Given the description of an element on the screen output the (x, y) to click on. 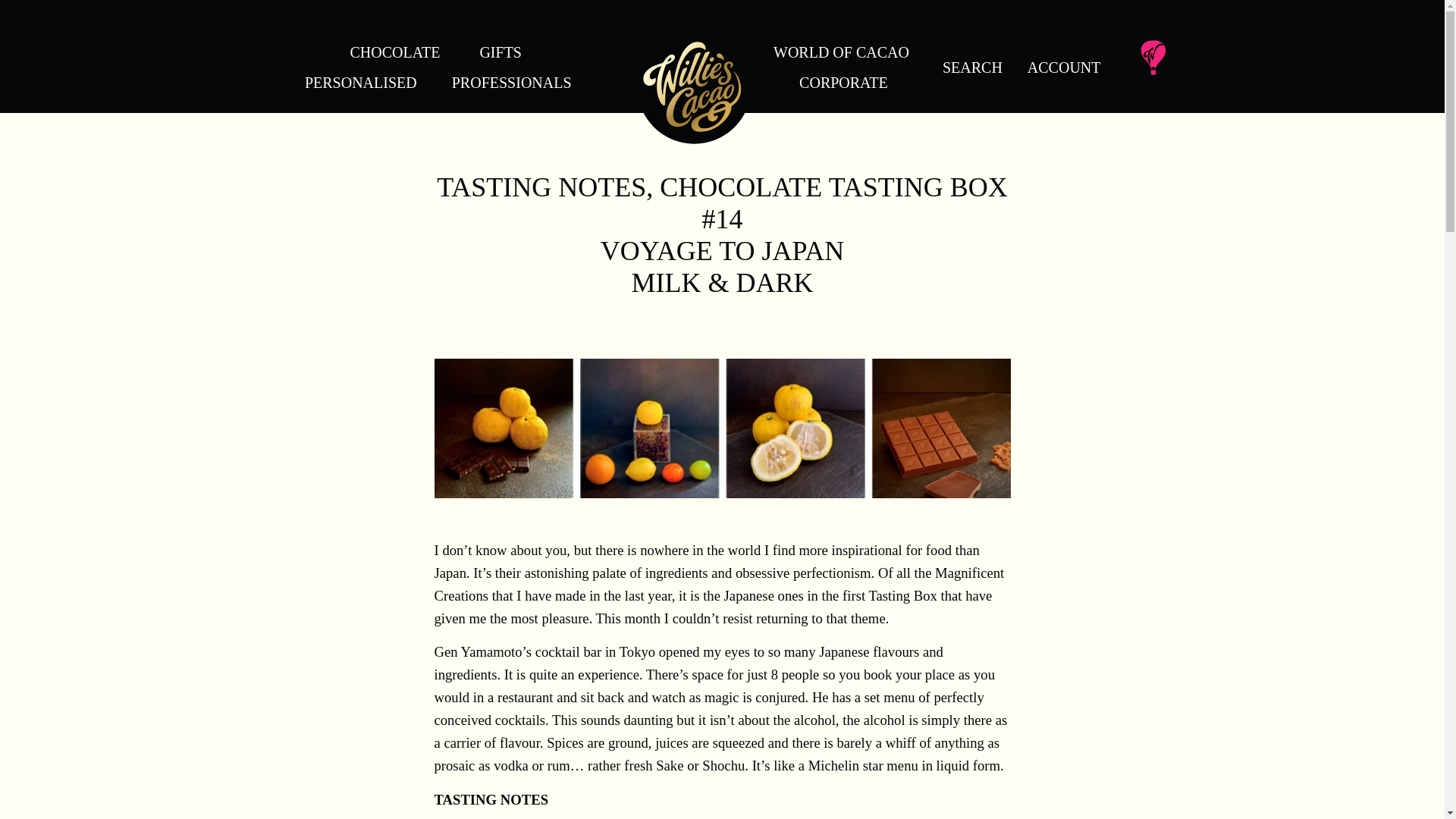
GIFTS (500, 51)
View your shopping bag (1152, 43)
CHOCOLATE (395, 51)
